Given the description of an element on the screen output the (x, y) to click on. 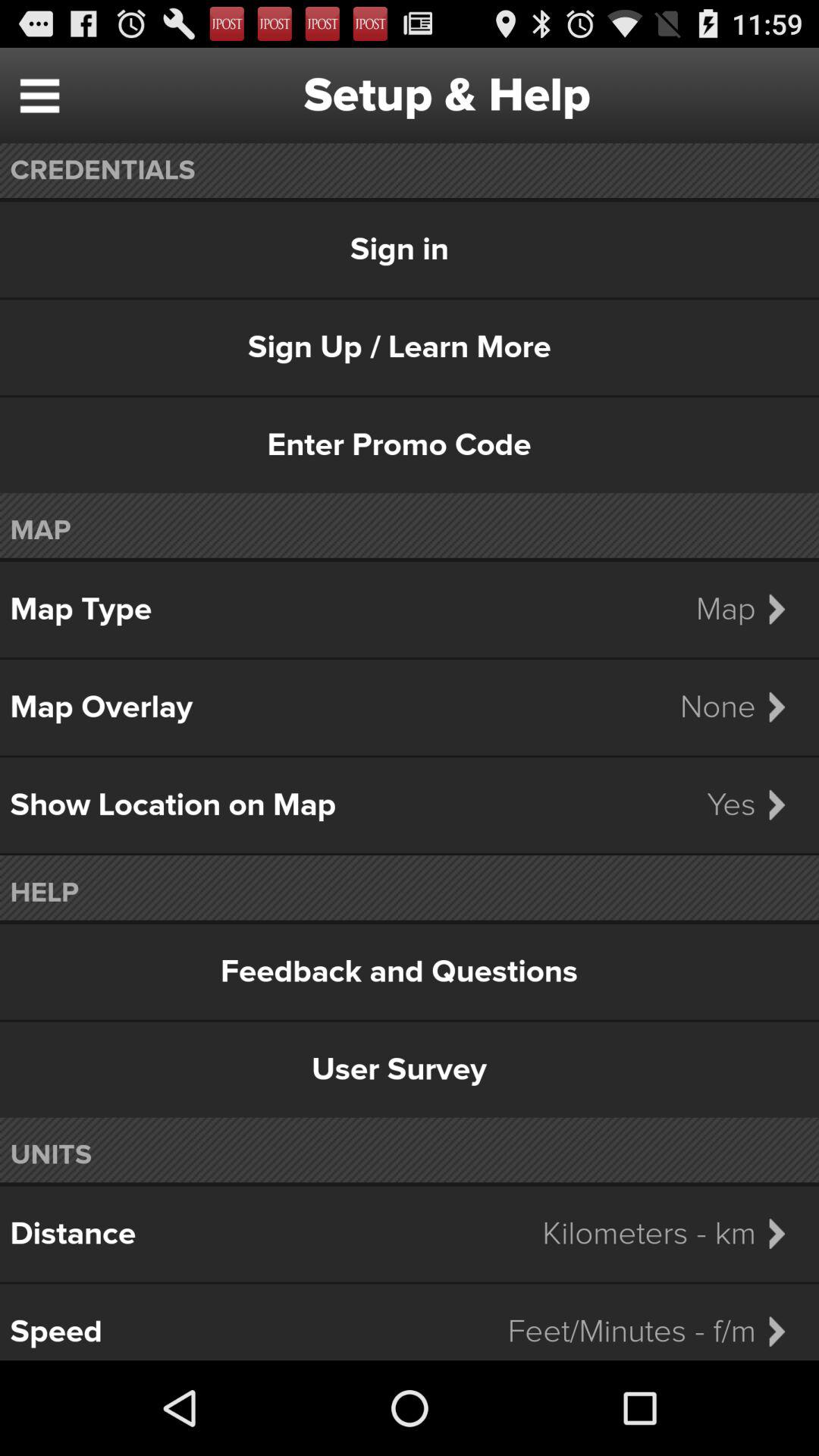
turn off item to the left of setup & help item (39, 95)
